Given the description of an element on the screen output the (x, y) to click on. 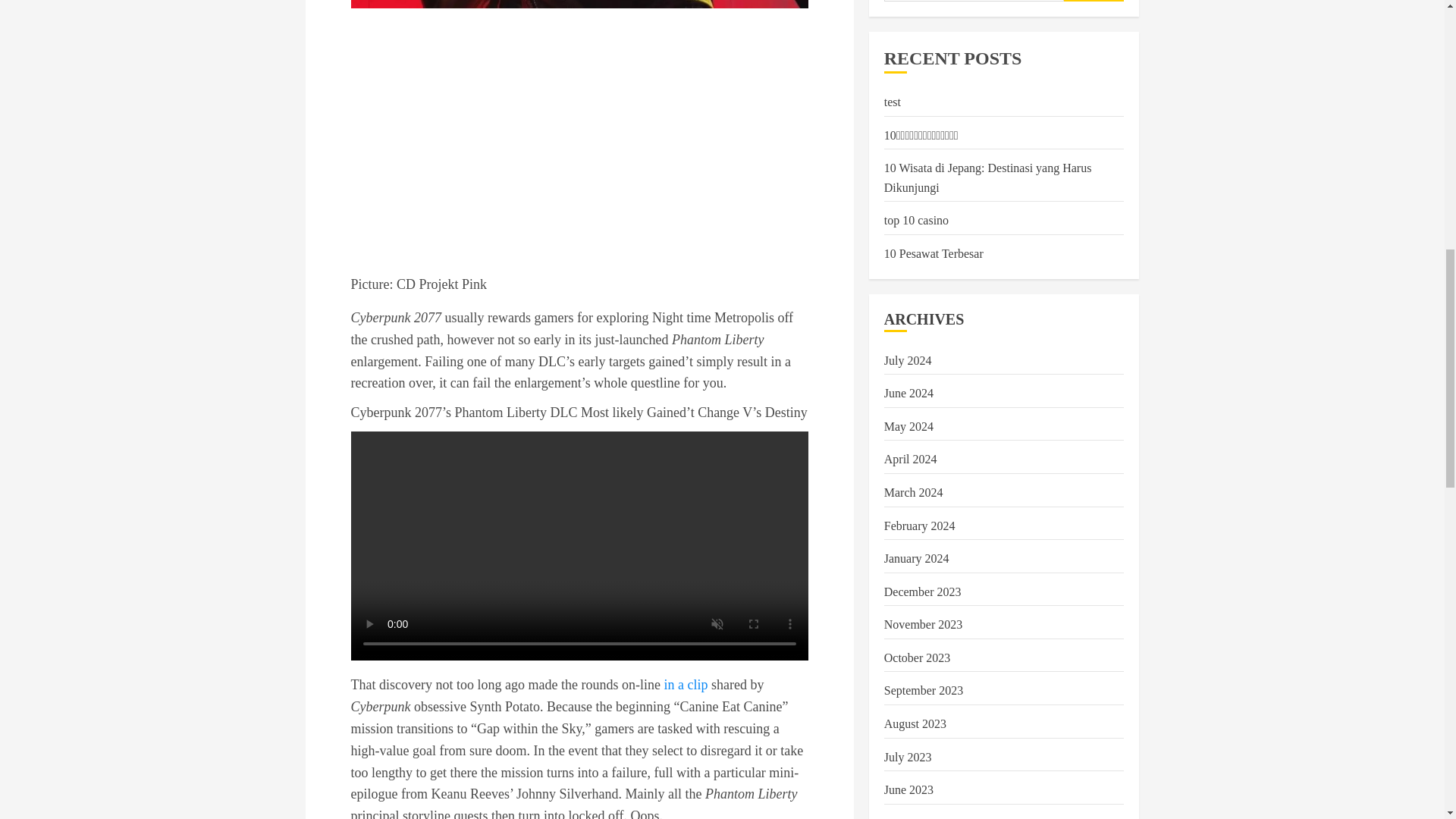
in a clip (685, 684)
